Given the description of an element on the screen output the (x, y) to click on. 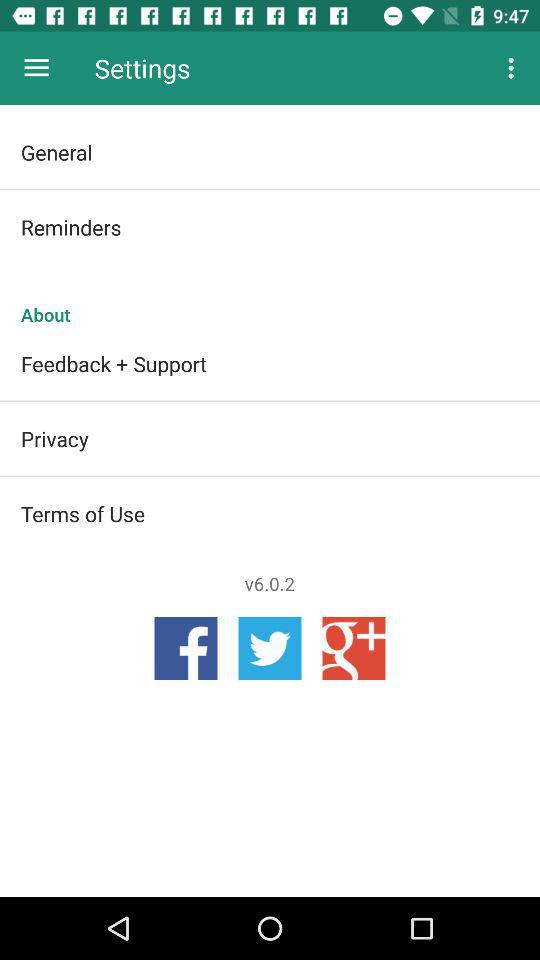
scroll until privacy item (270, 438)
